Given the description of an element on the screen output the (x, y) to click on. 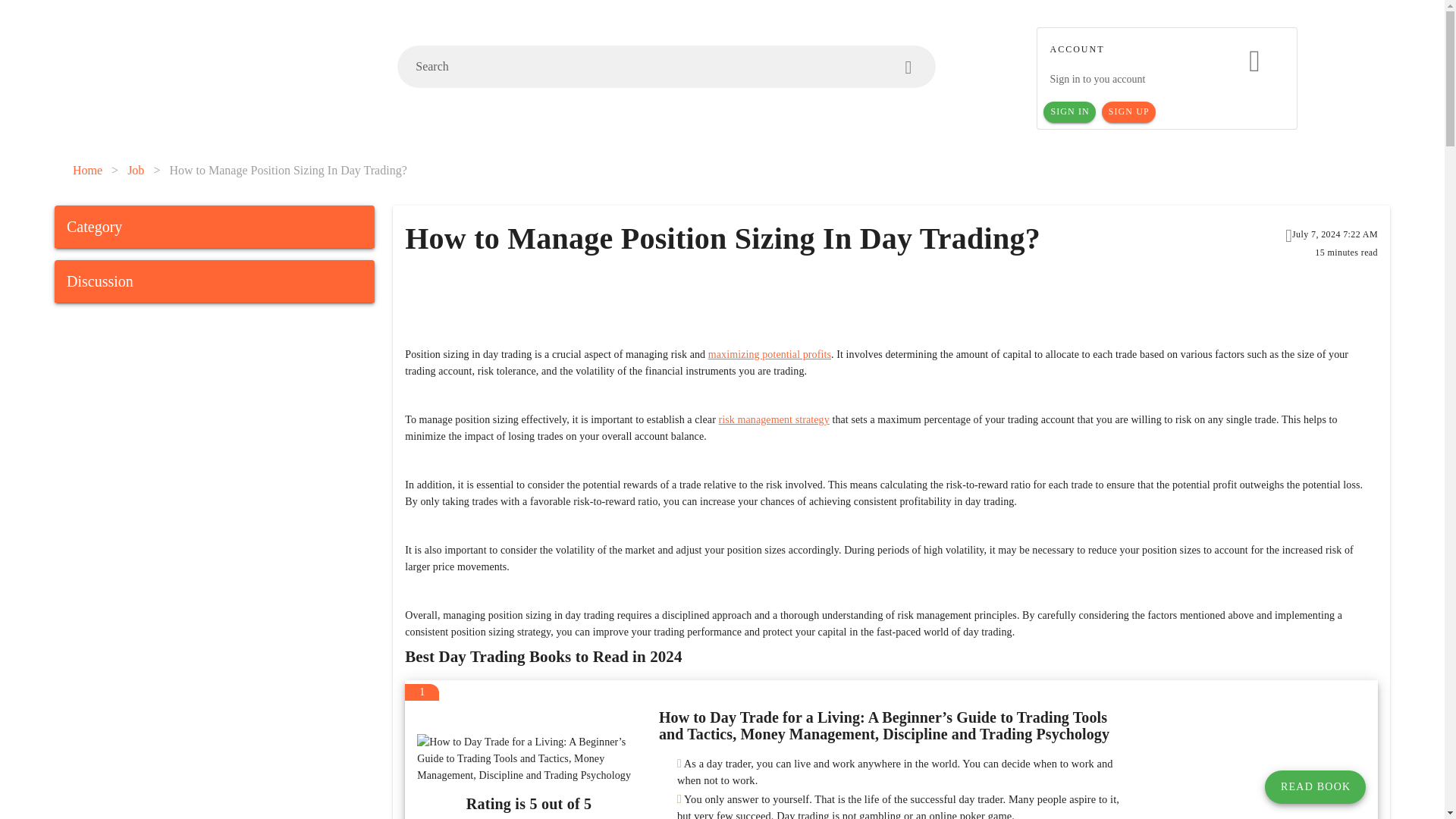
SIGN UP (1129, 111)
Job (136, 170)
How to Manage Position Sizing In Day Trading? (287, 170)
risk management strategy (774, 419)
maximizing potential profits (769, 354)
READ BOOK (1315, 786)
SIGN IN (1068, 111)
Home (86, 170)
